Given the description of an element on the screen output the (x, y) to click on. 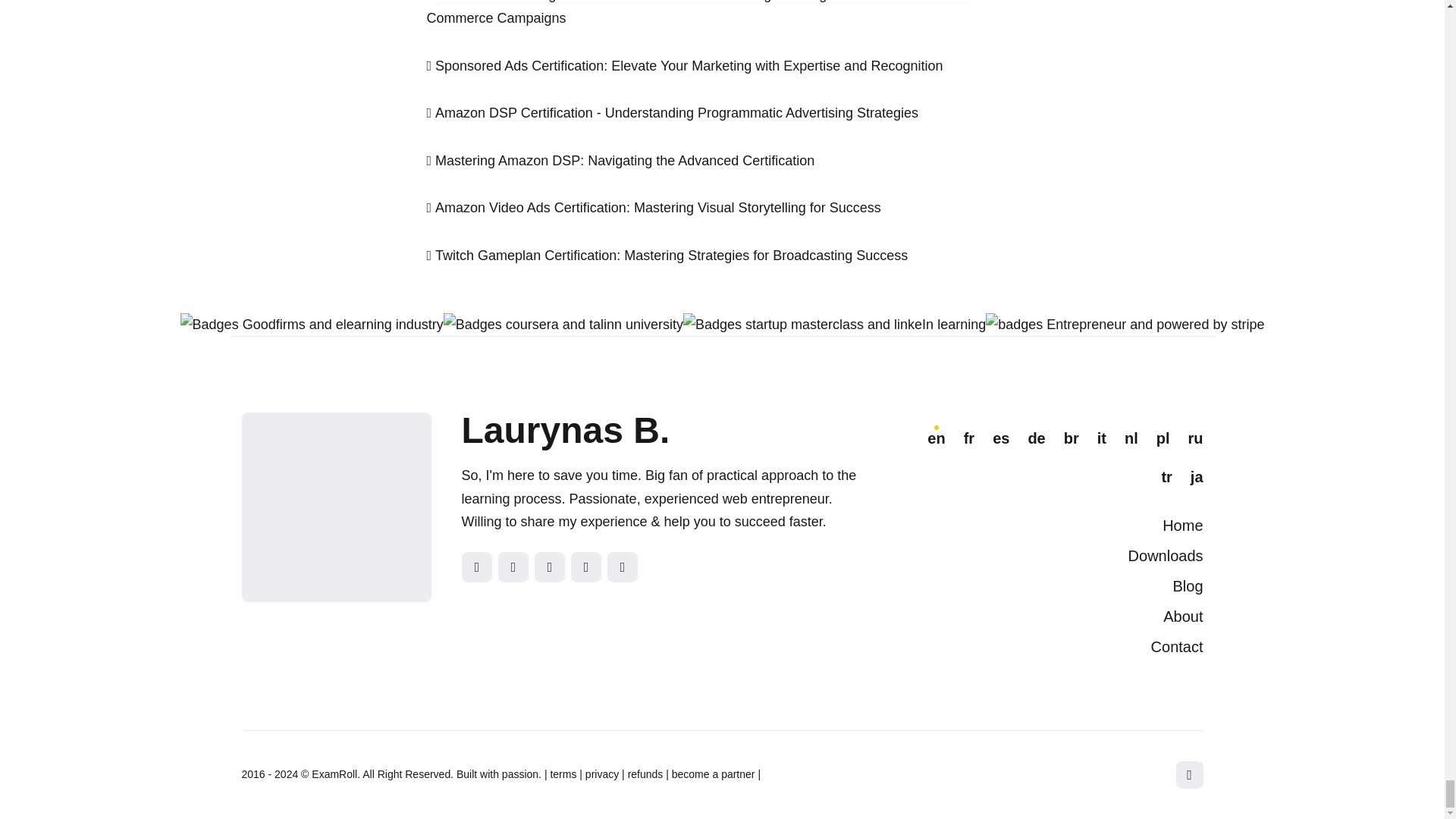
Blog (1187, 586)
Top (1188, 774)
Downloads (1166, 555)
Home (1181, 524)
About (1182, 616)
Mastering Amazon DSP: Navigating the Advanced Certification (624, 160)
